Given the description of an element on the screen output the (x, y) to click on. 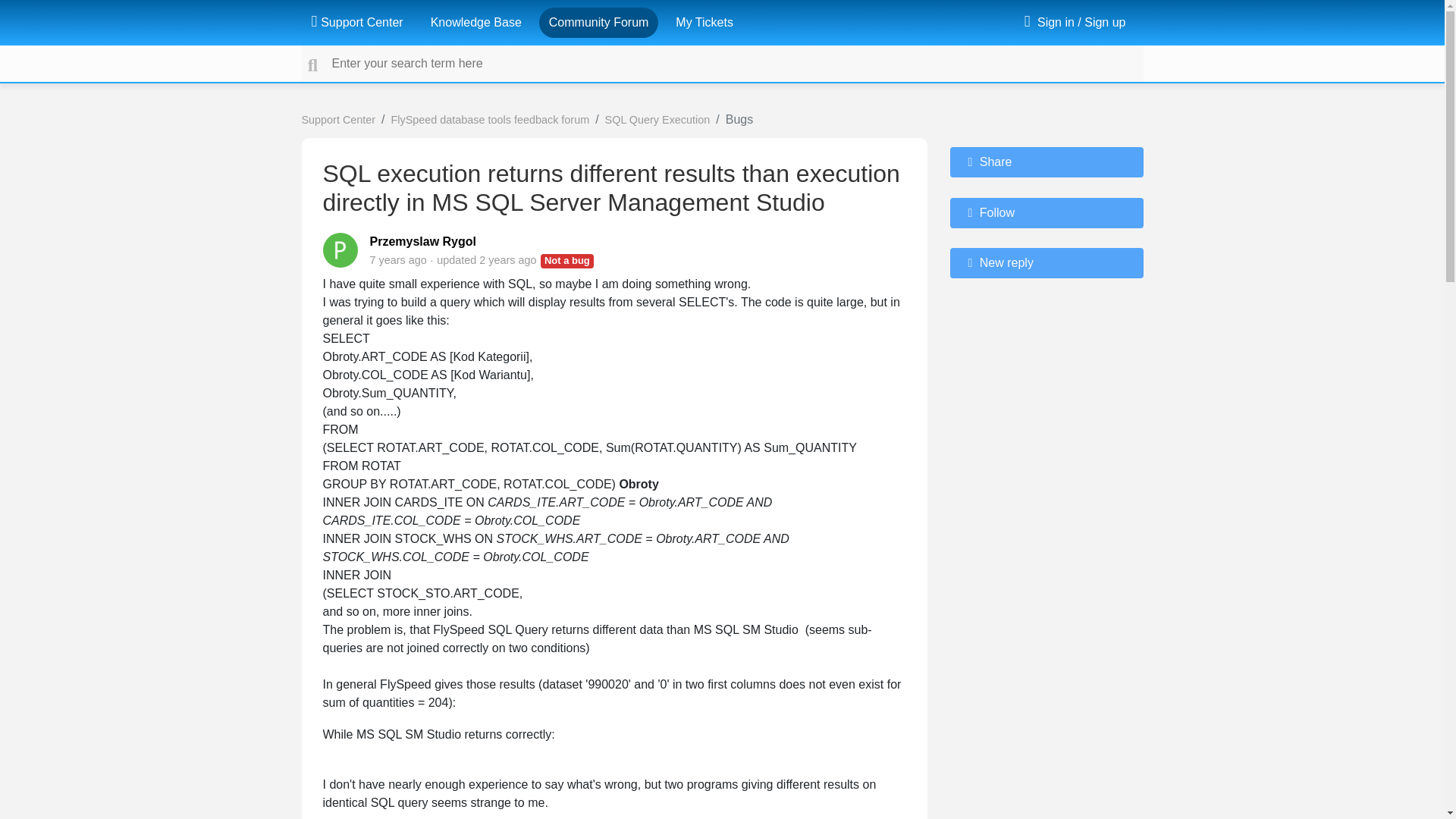
Share (1045, 162)
June 16, 2022 11:38 a.m. (507, 259)
Support Center (356, 22)
Knowledge Base (476, 22)
My Tickets (704, 22)
Follow (1045, 213)
SQL Query Execution (657, 119)
Przemyslaw Rygol (423, 241)
New reply (1045, 263)
Community Forum (599, 22)
FlySpeed database tools feedback forum (490, 119)
Support Center (338, 119)
Aug. 25, 2017 8:46 a.m. (397, 259)
